Given the description of an element on the screen output the (x, y) to click on. 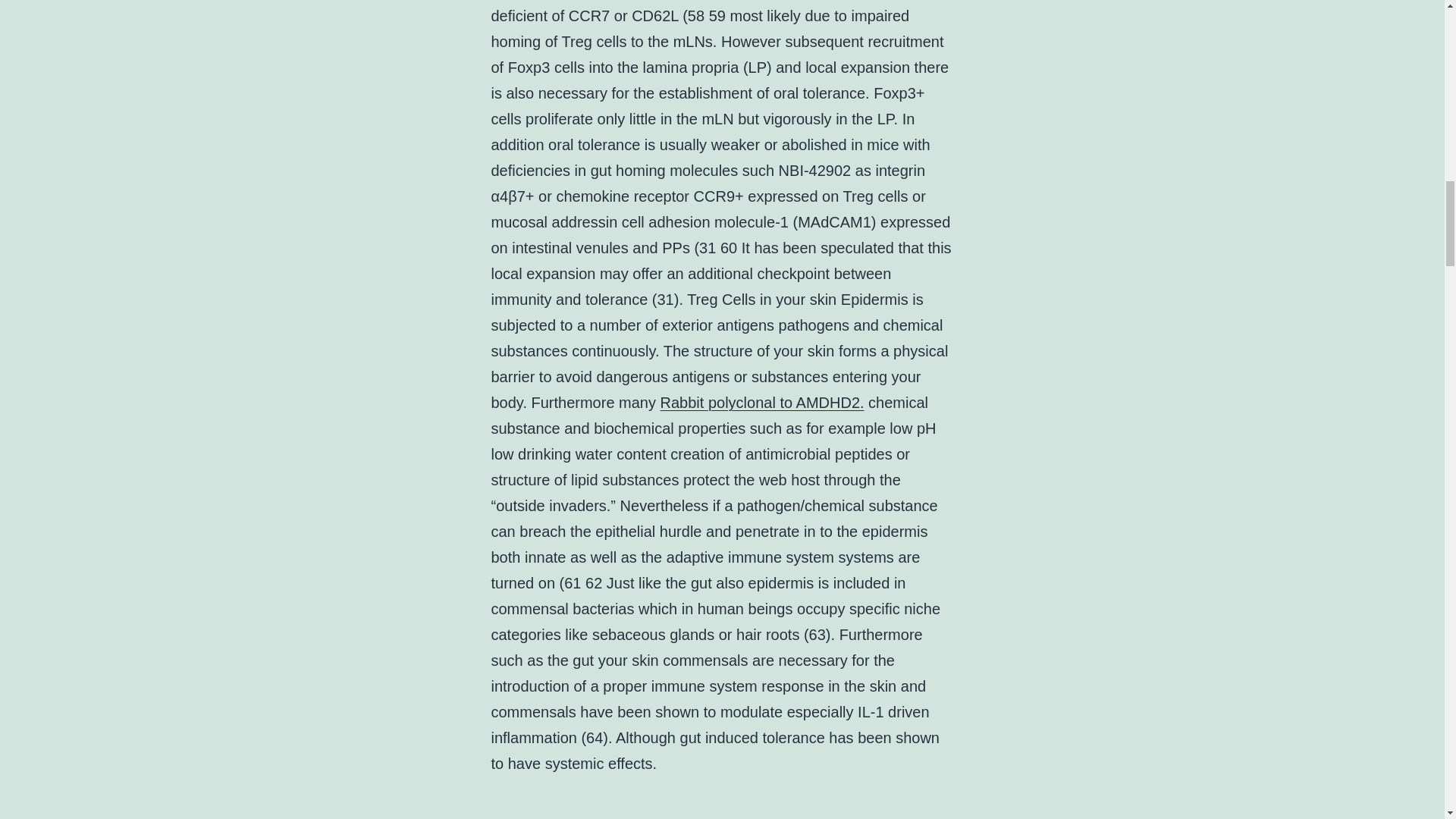
Rabbit polyclonal to AMDHD2. (762, 402)
